Given the description of an element on the screen output the (x, y) to click on. 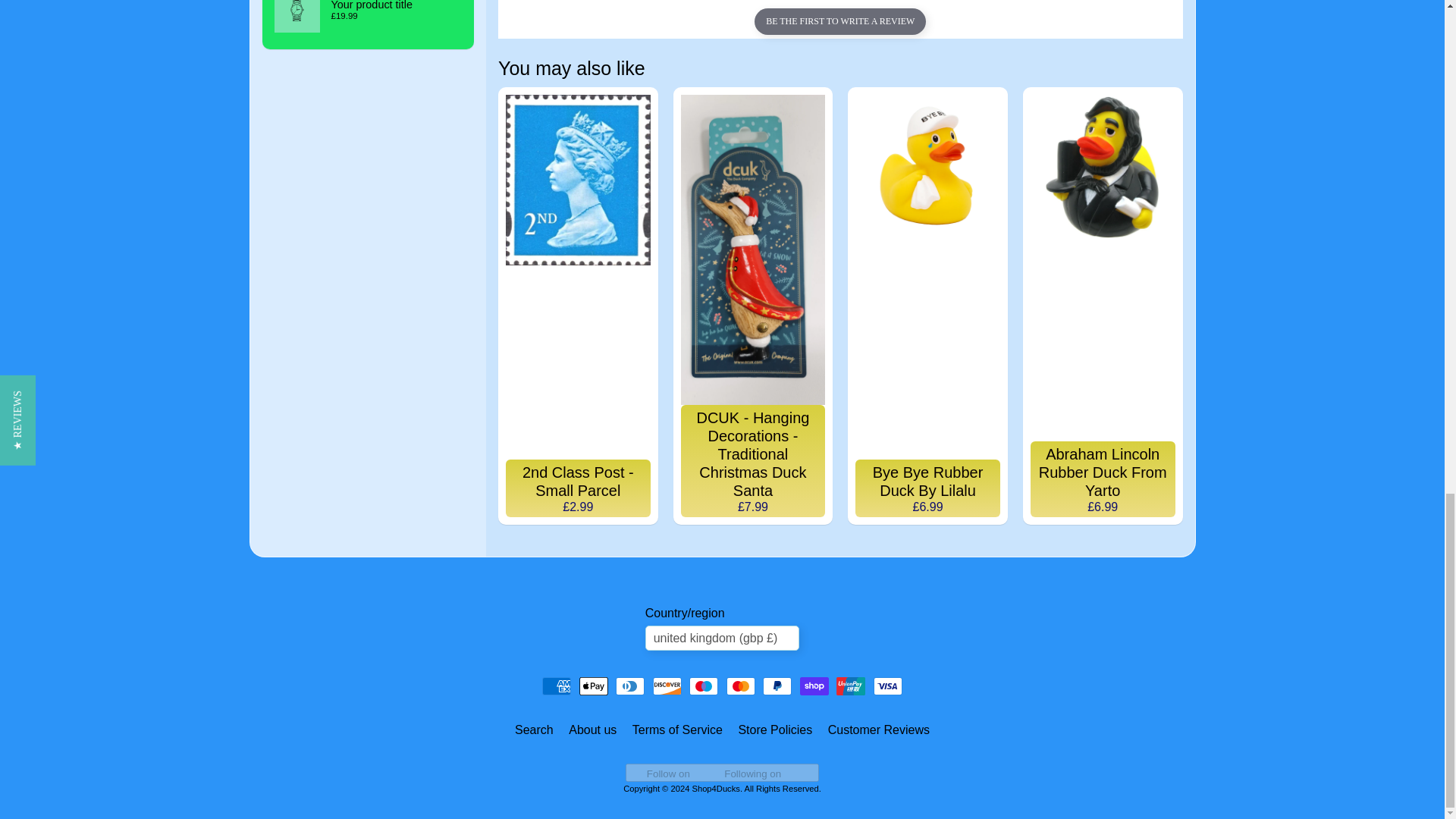
Discover (666, 686)
Mastercard (740, 686)
Maestro (702, 686)
Apple Pay (593, 686)
Diners Club (630, 686)
American Express (555, 686)
